Given the description of an element on the screen output the (x, y) to click on. 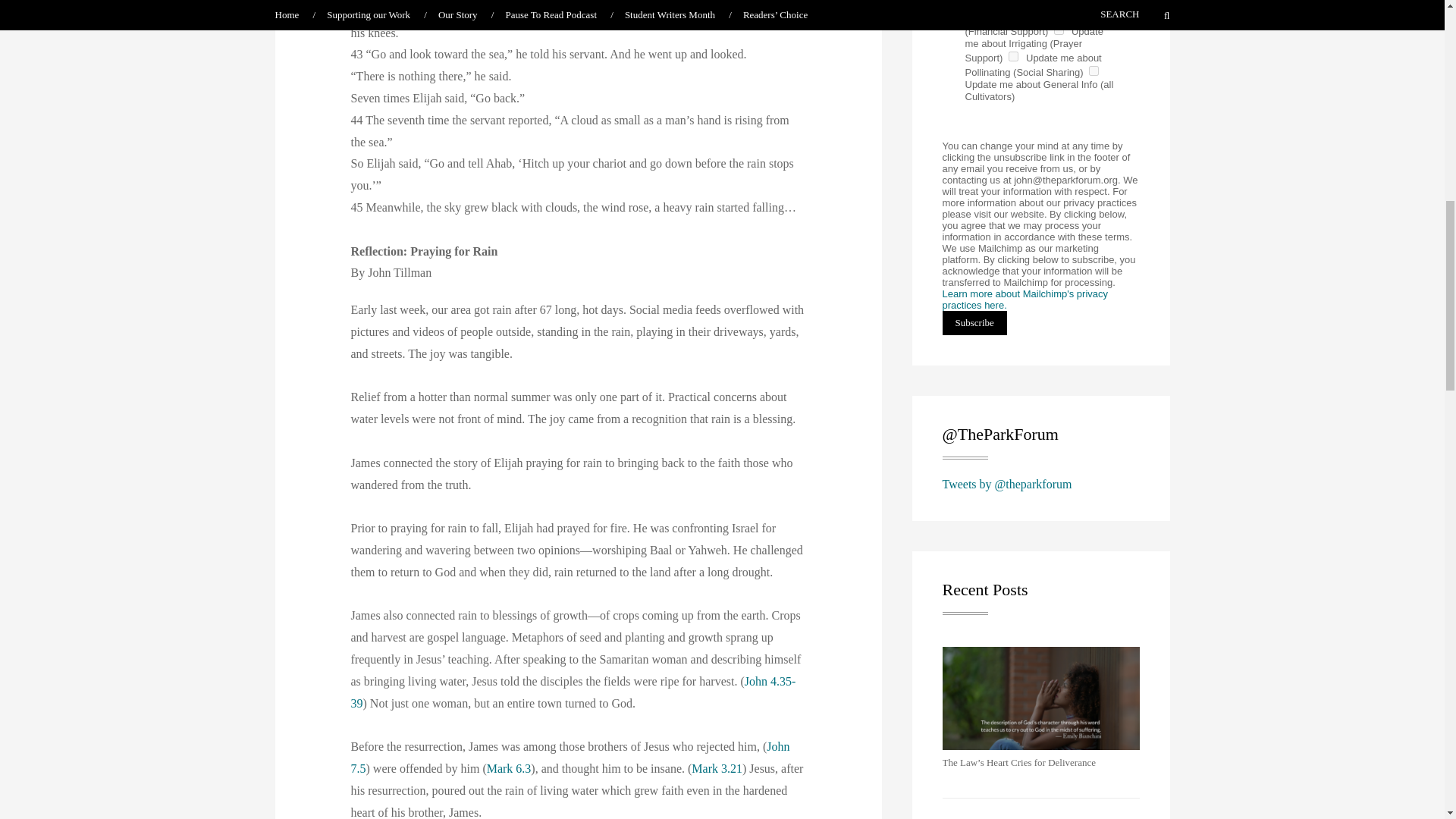
John 7.5 (569, 757)
Learn more about Mailchimp's privacy practices here. (1025, 299)
Y (1094, 71)
Y (1059, 30)
Mark 6.3 (508, 768)
John 4.35-39 (572, 692)
Y (1013, 56)
Mark 3.21 (716, 768)
Y (972, 15)
Subscribe (974, 322)
Subscribe (974, 322)
